Given the description of an element on the screen output the (x, y) to click on. 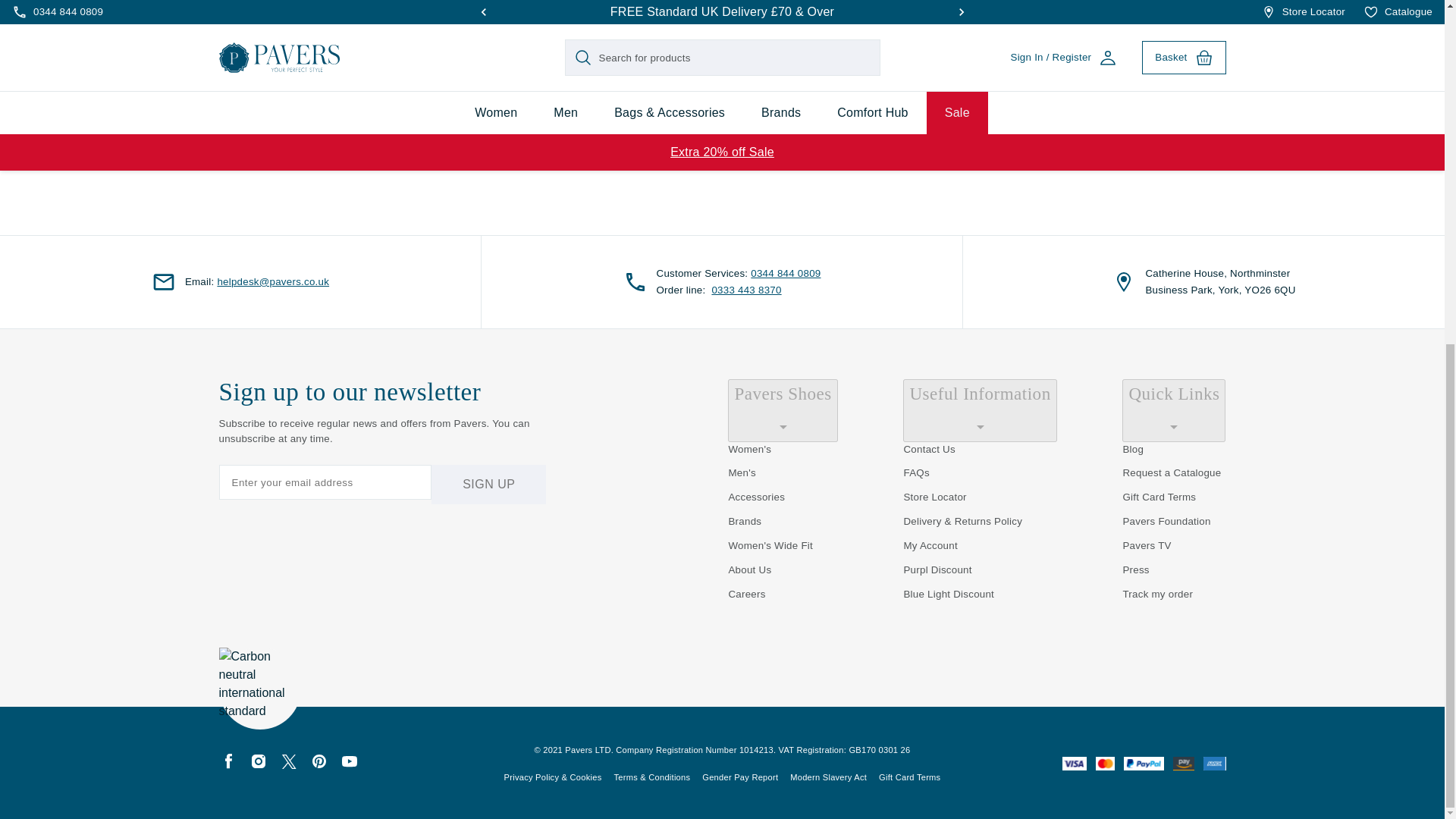
Carbon neutral international standard (258, 688)
